Given the description of an element on the screen output the (x, y) to click on. 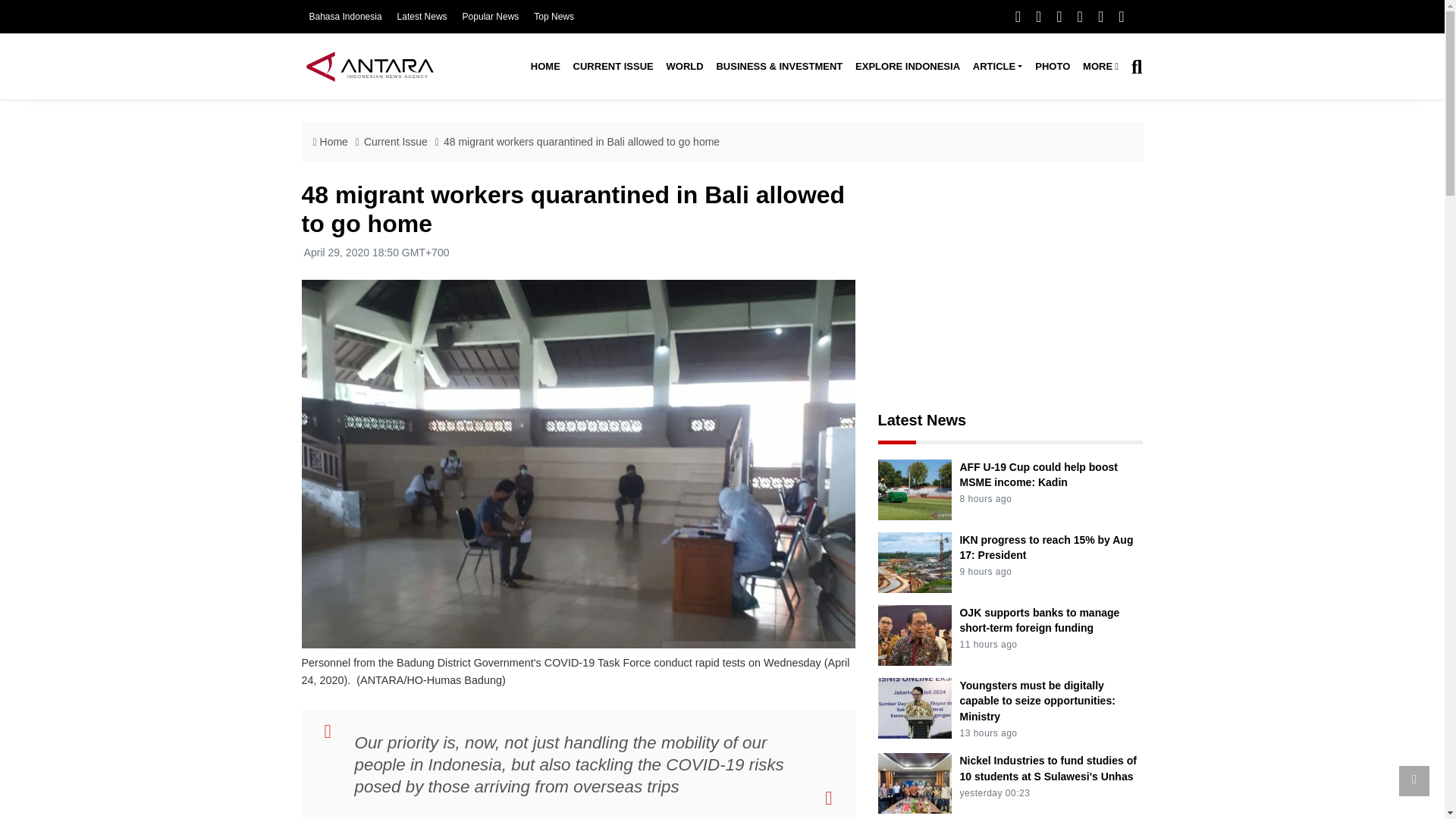
Article (996, 66)
Popular News (491, 16)
Latest News (421, 16)
ANTARA News (369, 66)
Bahasa Indonesia (344, 16)
CURRENT ISSUE (612, 66)
Explore Indonesia (907, 66)
Top News (553, 16)
Bahasa Indonesia (344, 16)
ARTICLE (996, 66)
Top News (553, 16)
Popular News (491, 16)
Latest News (421, 16)
Current Issue (612, 66)
